Given the description of an element on the screen output the (x, y) to click on. 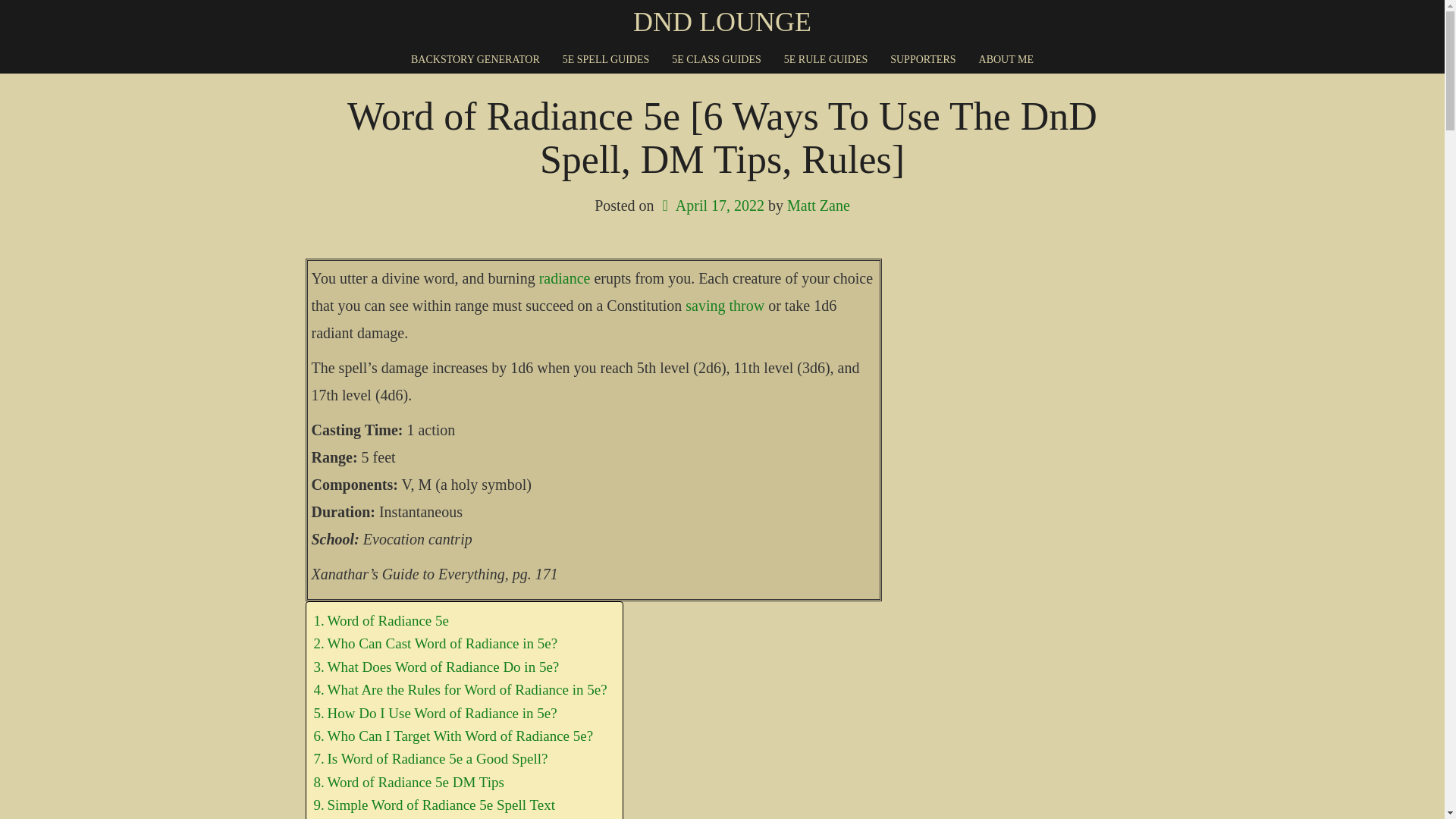
Word of Radiance 5e (381, 620)
Who Can I Target With Word of Radiance 5e? (454, 735)
DND LOUNGE (721, 22)
5E RULE GUIDES (825, 58)
5E SPELL GUIDES (606, 58)
Who Can Cast Word of Radiance in 5e? (435, 643)
5E CLASS GUIDES (716, 58)
radiance (564, 278)
ABOUT ME (1005, 58)
What Are the Rules for Word of Radiance in 5e? (460, 689)
BACKSTORY GENERATOR (475, 58)
Is Word of Radiance 5e a Good Spell? (431, 758)
Word of Radiance 5e DM Tips (408, 782)
Simple Word of Radiance 5e Spell Text (434, 804)
